Given the description of an element on the screen output the (x, y) to click on. 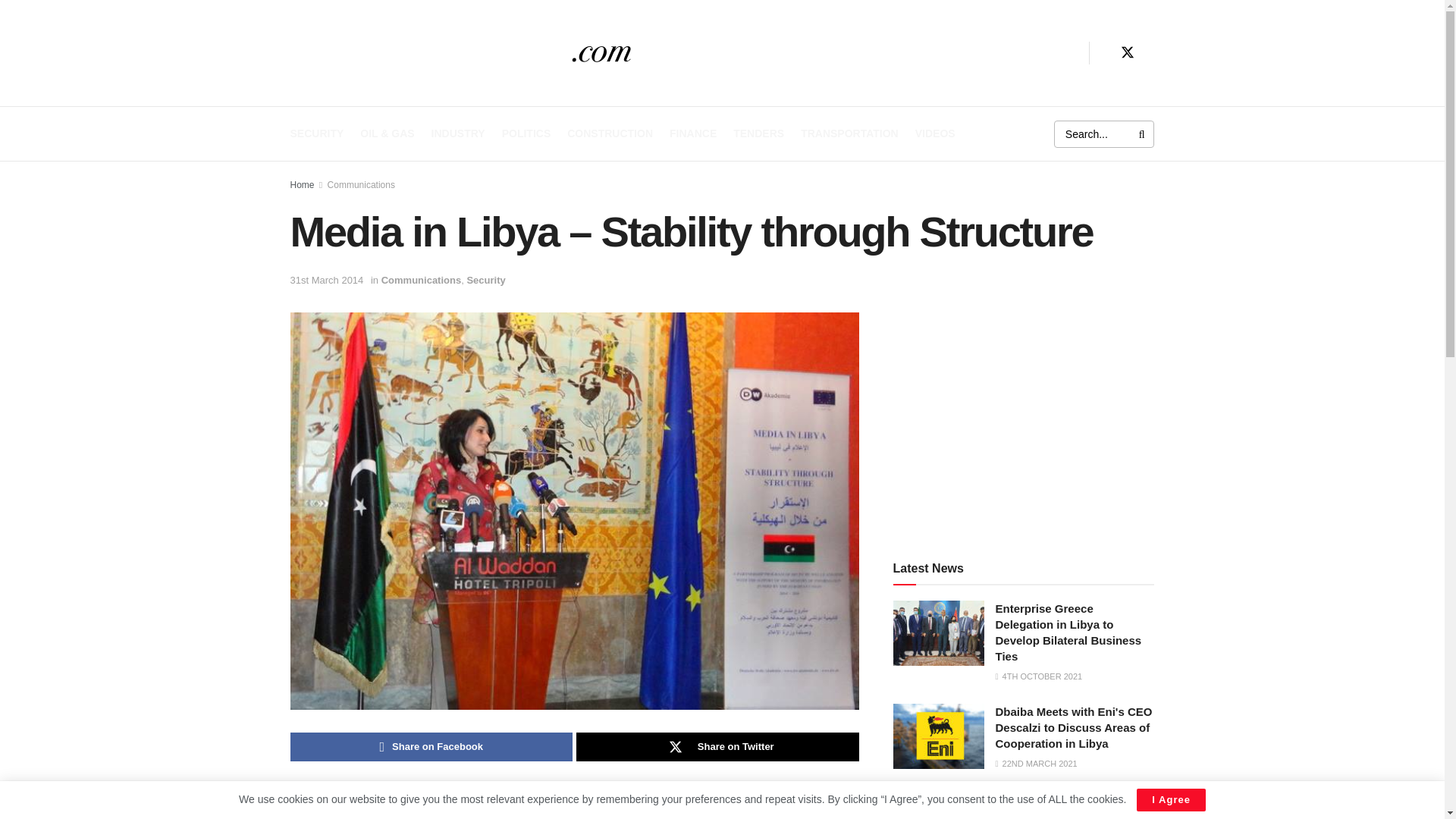
Communications (421, 279)
31st March 2014 (325, 279)
Advertisement (1023, 418)
TENDERS (758, 133)
POLITICS (526, 133)
CONSTRUCTION (609, 133)
Home (301, 184)
TRANSPORTATION (849, 133)
Security (485, 279)
SECURITY (316, 133)
Communications (360, 184)
Share on Facebook (430, 746)
INDUSTRY (457, 133)
Share on Twitter (717, 746)
